Given the description of an element on the screen output the (x, y) to click on. 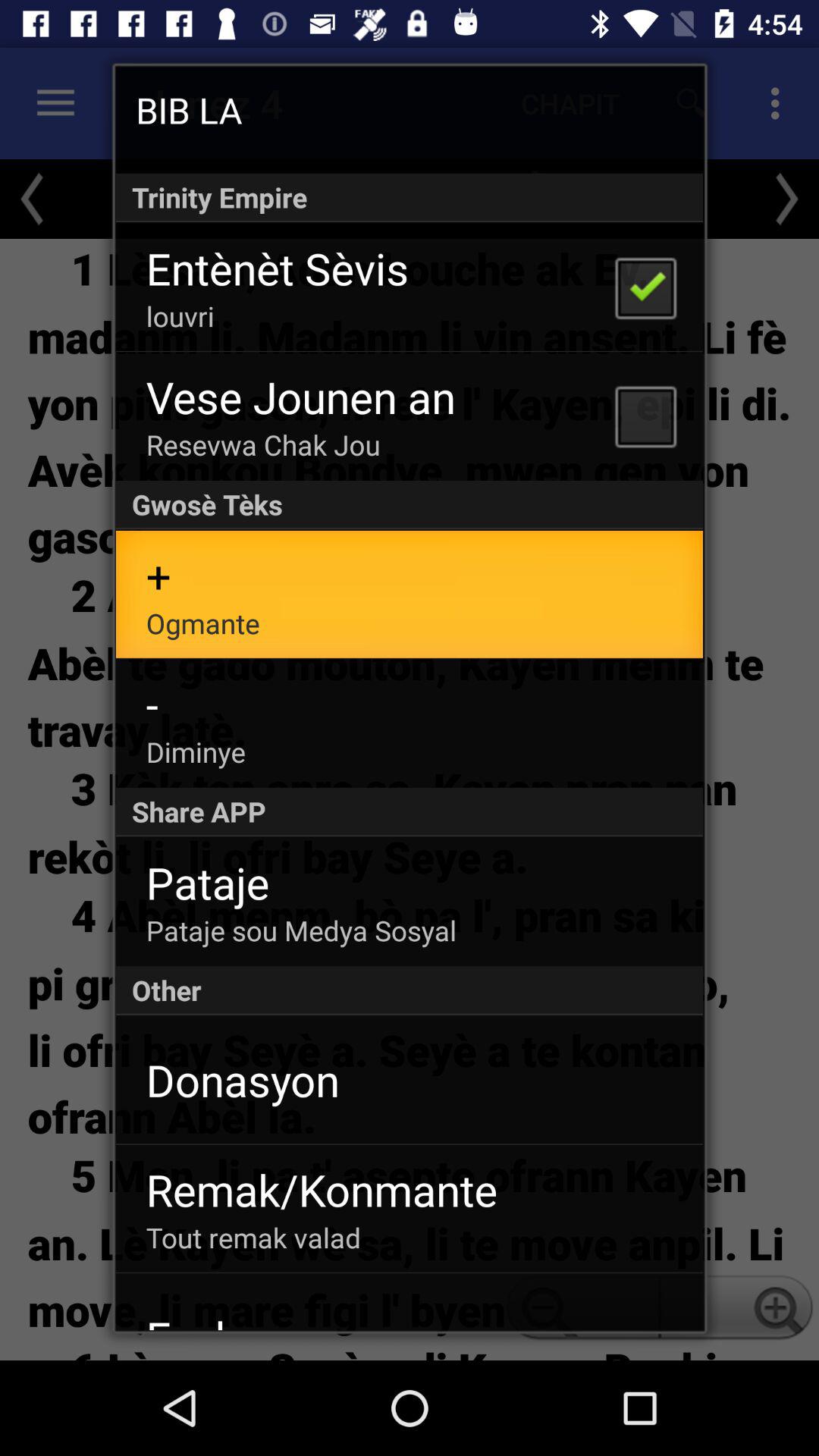
choose the - (152, 703)
